Given the description of an element on the screen output the (x, y) to click on. 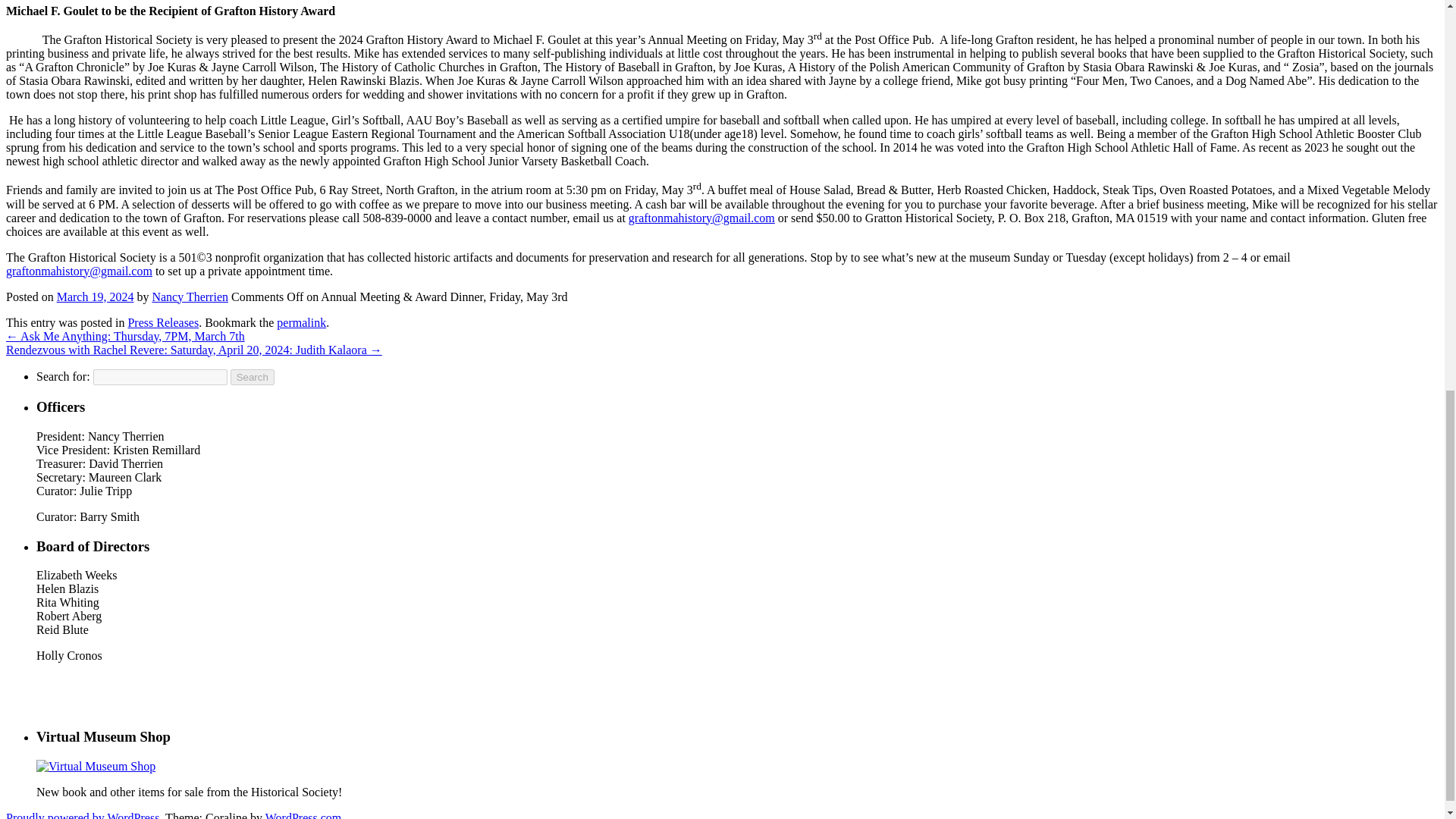
Virtual Museum Shop (95, 766)
View all posts by Nancy Therrien (189, 296)
7:17 PM (94, 296)
Search (252, 376)
